Given the description of an element on the screen output the (x, y) to click on. 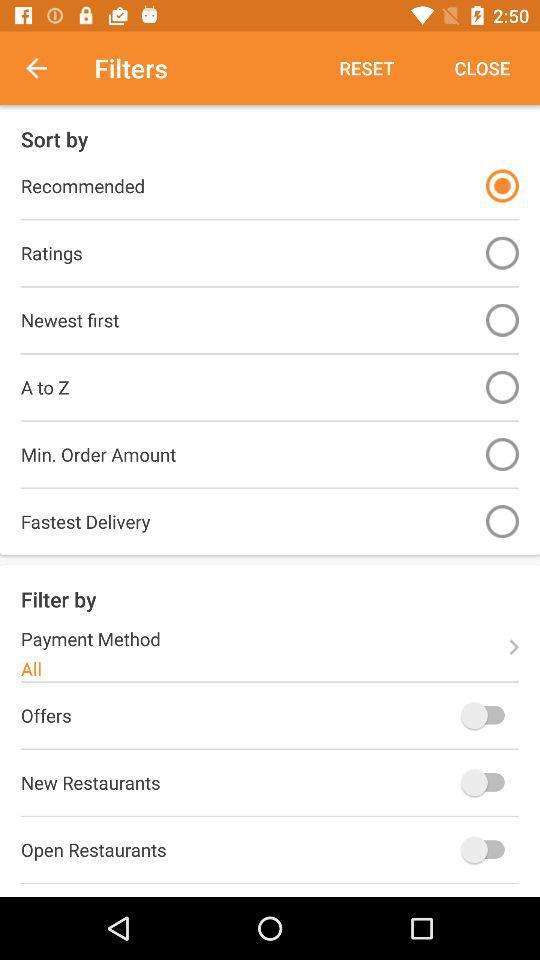
fastest delivery switch (502, 521)
